Given the description of an element on the screen output the (x, y) to click on. 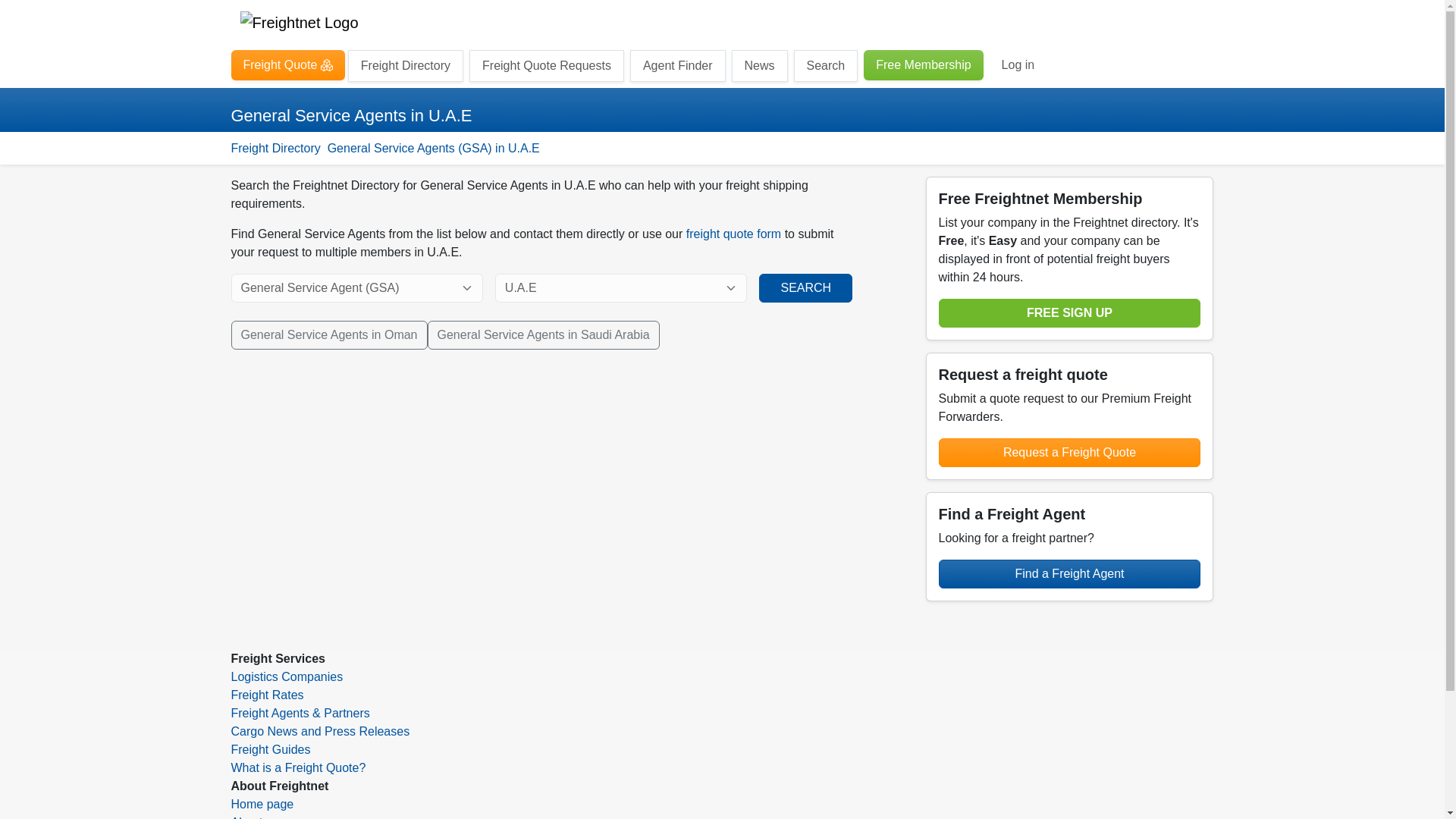
Home page (262, 803)
Freight Quote (286, 64)
What is a Freight Quote? (297, 767)
About us (254, 817)
Find a Freight Agent (1070, 573)
Cargo News and Press Releases (319, 730)
Search (826, 65)
FREE SIGN UP (1070, 312)
Log in (1018, 64)
General Service Agents in Saudi Arabia (543, 335)
Freight Directory (405, 65)
Request a Freight Quote (1070, 452)
Logistics Companies (286, 676)
Free Membership (922, 64)
freight quote form (732, 233)
